Given the description of an element on the screen output the (x, y) to click on. 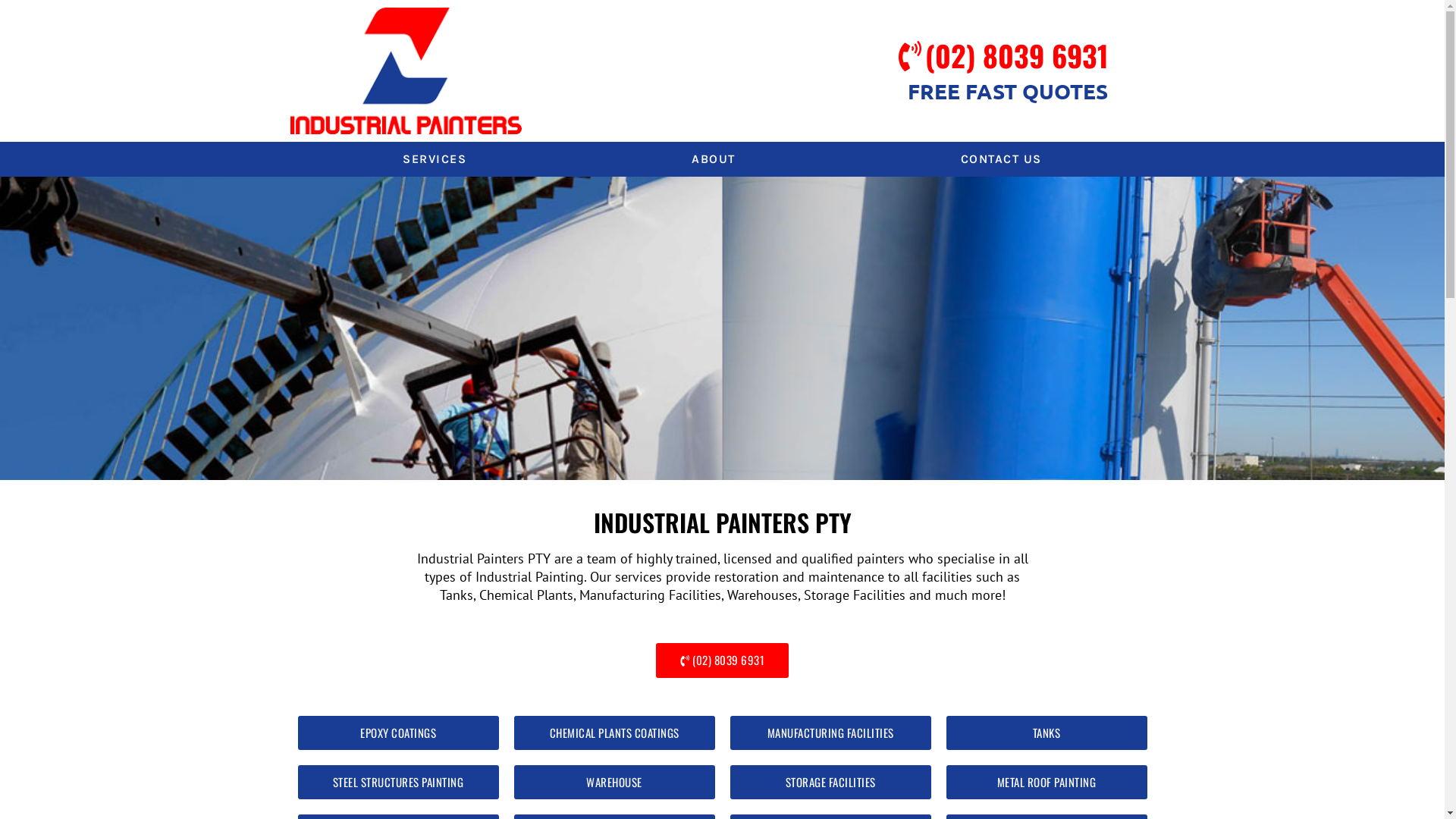
STORAGE FACILITIES Element type: text (829, 782)
(02) 8039 6931 Element type: text (722, 660)
EPOXY COATINGS Element type: text (397, 732)
CHEMICAL PLANTS COATINGS Element type: text (614, 732)
WAREHOUSE Element type: text (614, 782)
CONTACT US Element type: text (1000, 158)
TANKS Element type: text (1046, 732)
STEEL STRUCTURES PAINTING Element type: text (397, 782)
FREE FAST QUOTES Element type: text (1007, 90)
ABOUT Element type: text (713, 158)
(02) 8039 6931 Element type: text (1016, 55)
MANUFACTURING FACILITIES Element type: text (829, 732)
SERVICES Element type: text (433, 158)
METAL ROOF PAINTING Element type: text (1046, 782)
